Given the description of an element on the screen output the (x, y) to click on. 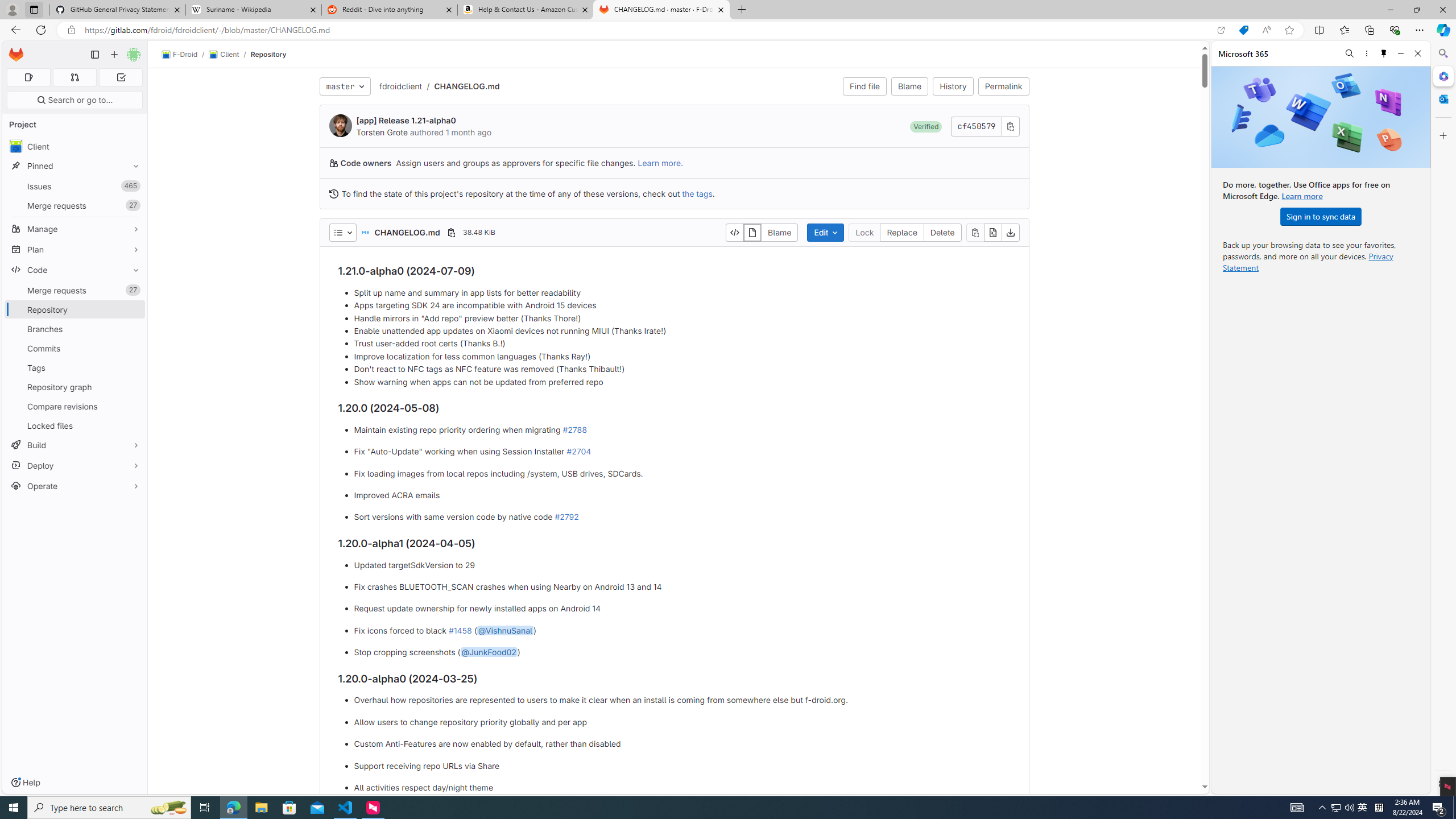
Find file (864, 85)
Close Outlook pane (1442, 98)
Build (74, 444)
Pin Branches (132, 328)
Delete (942, 232)
Homepage (16, 54)
Pin Tags (132, 367)
Handle mirrors in "Add repo" preview better (Thanks Thore!) (681, 318)
Copy file contents (974, 232)
Torsten Grote's avatar (340, 125)
Compare revisions (74, 406)
Merge requests 0 (74, 76)
